Given the description of an element on the screen output the (x, y) to click on. 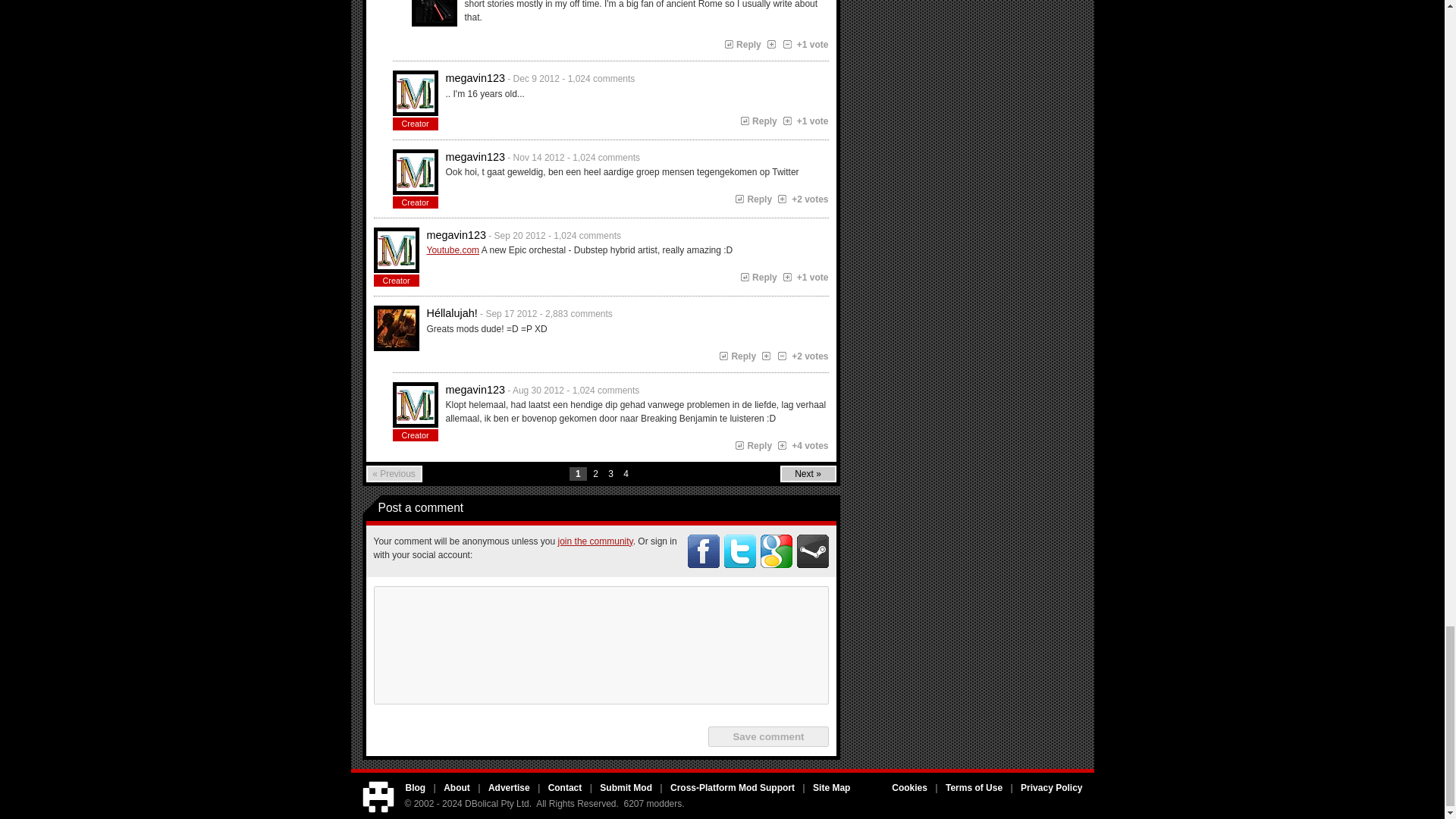
Save comment (767, 736)
